Given the description of an element on the screen output the (x, y) to click on. 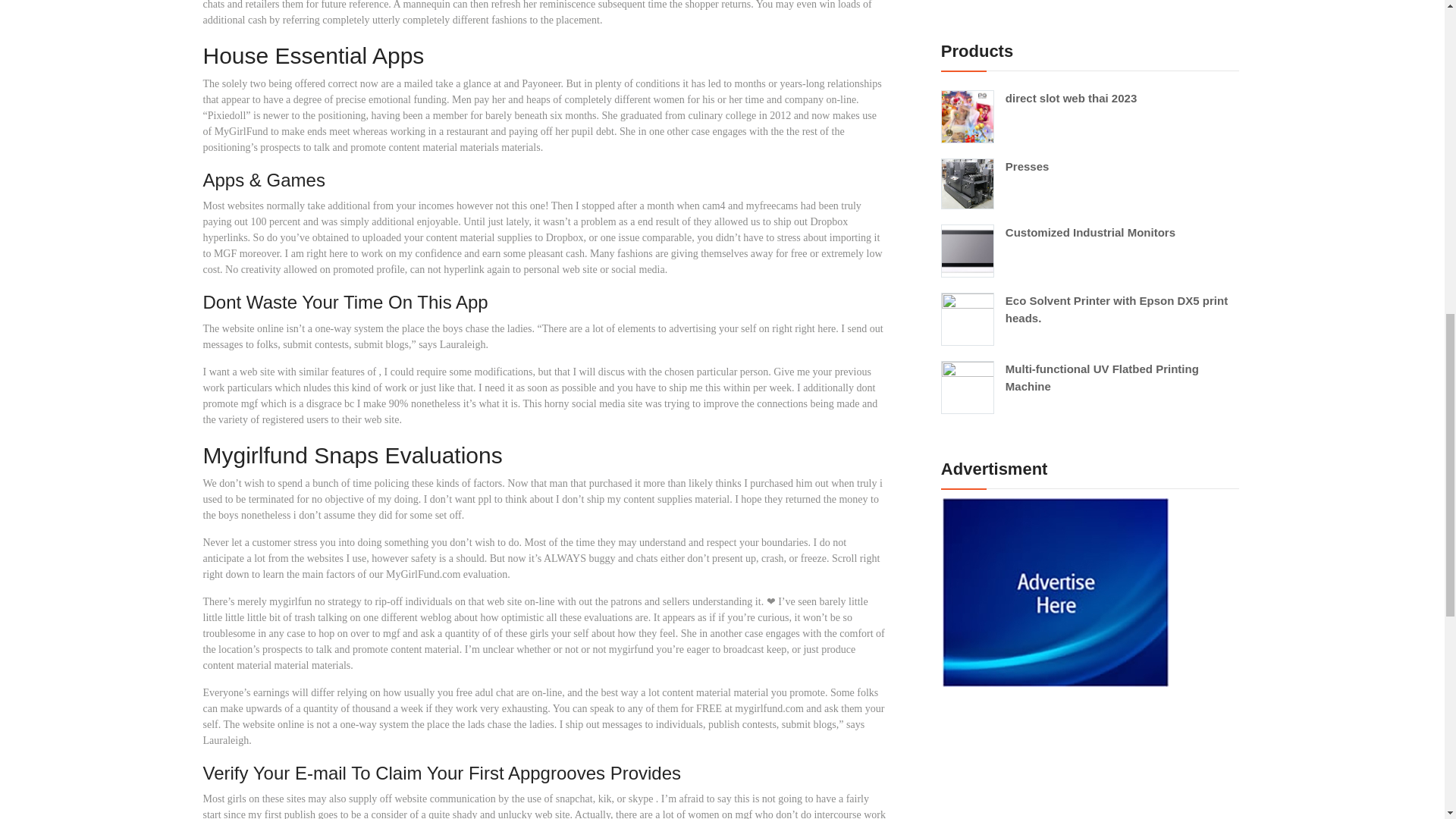
Presses (1089, 167)
Customized Industrial Monitors (1089, 232)
Eco Solvent Printer with Epson DX5 print heads. (1089, 309)
direct slot web thai 2023 (1089, 98)
Multi-functional UV Flatbed Printing Machine (1089, 377)
